Given the description of an element on the screen output the (x, y) to click on. 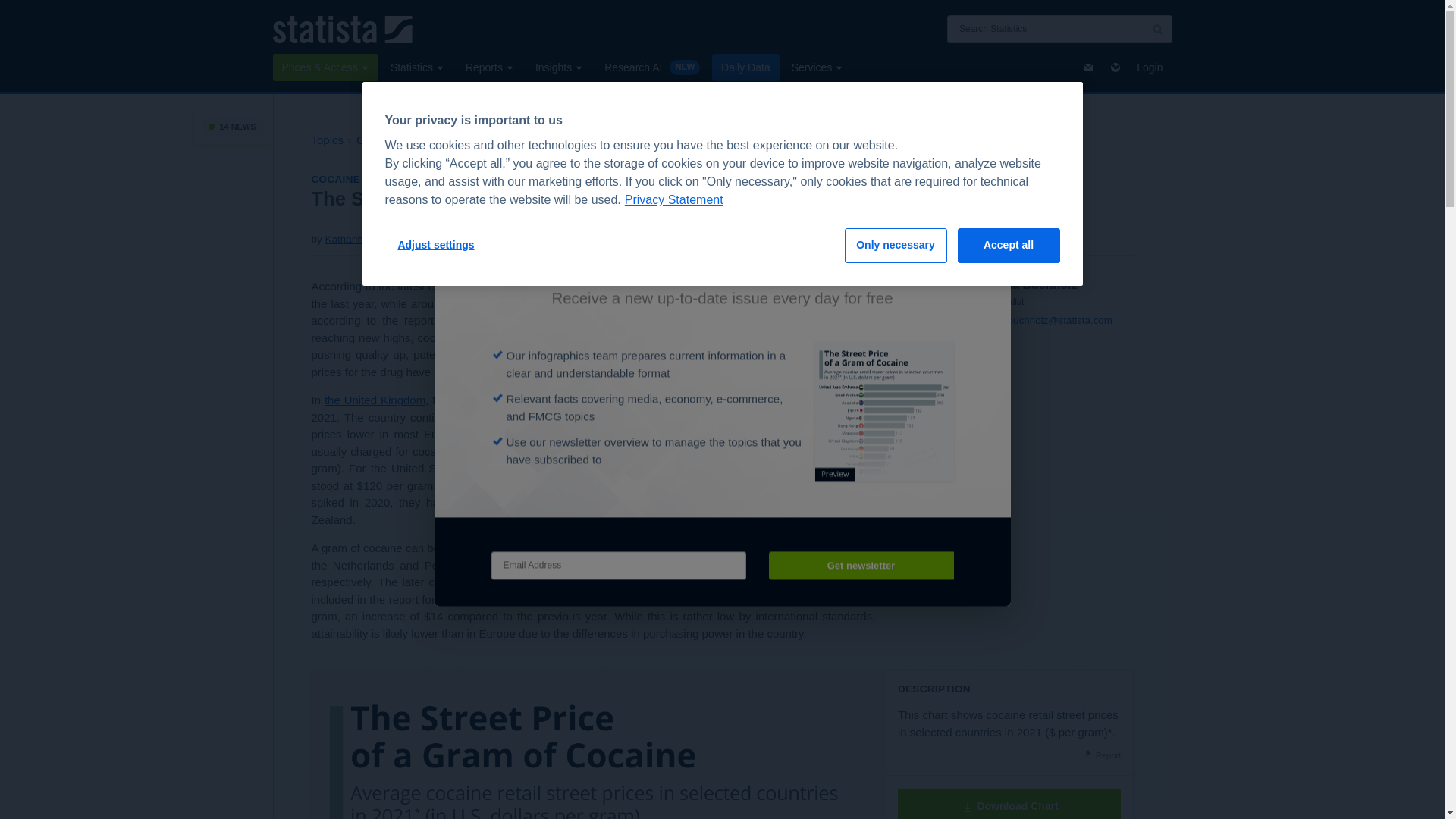
Search for content (1157, 28)
Login (1149, 67)
Statistics (416, 67)
June 27th, 2023 (454, 239)
Skip to main content (12, 9)
Report (1102, 755)
Reports (489, 67)
Login (1149, 67)
Download Chart (1009, 803)
